Given the description of an element on the screen output the (x, y) to click on. 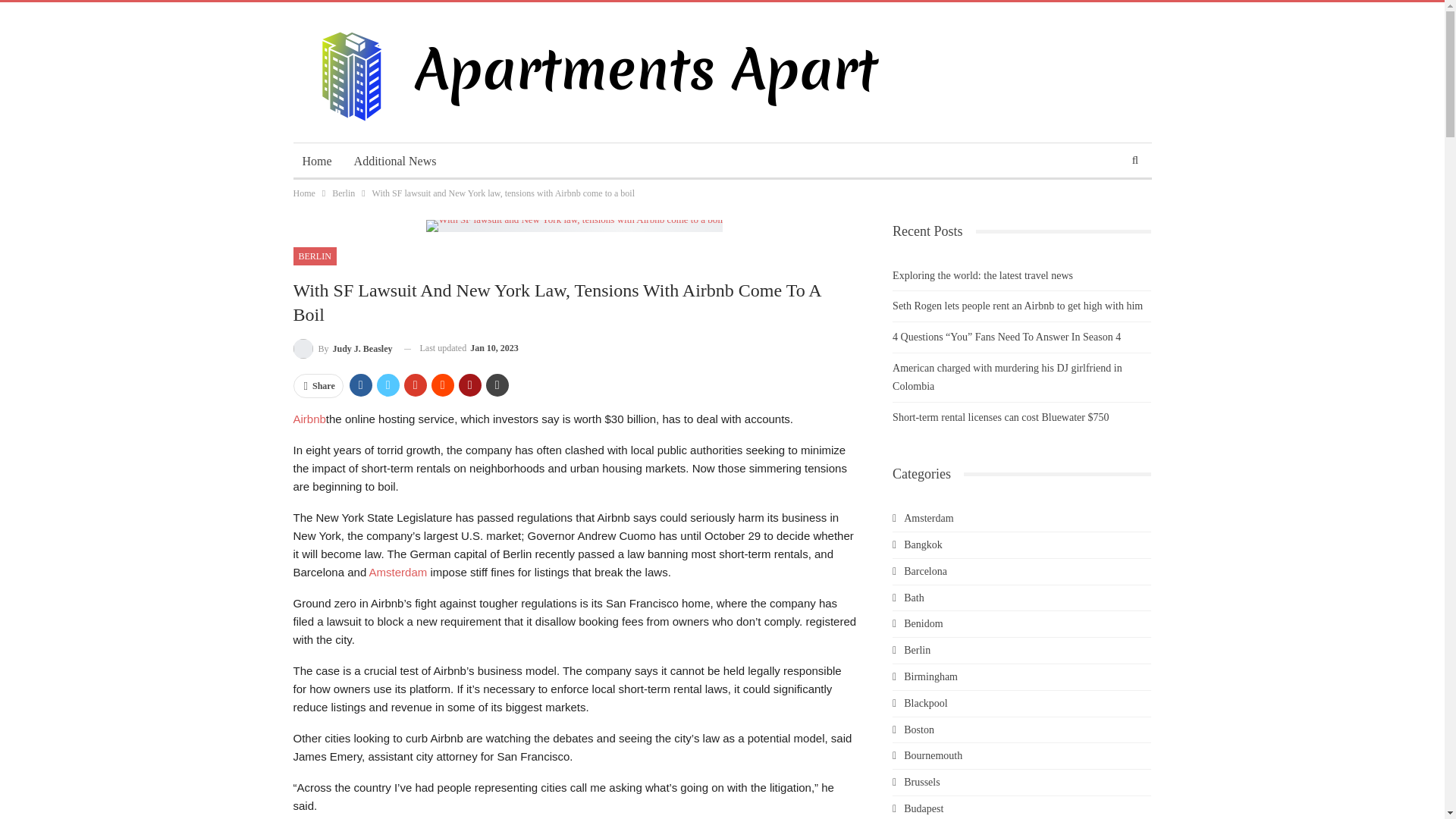
Additional News (395, 161)
Berlin (343, 193)
Amsterdam (398, 571)
Airbnb (308, 418)
Browse Author Articles (341, 348)
Home (316, 161)
Home (303, 193)
Amsterdam (398, 571)
By Judy J. Beasley (341, 348)
BERLIN (314, 256)
